Given the description of an element on the screen output the (x, y) to click on. 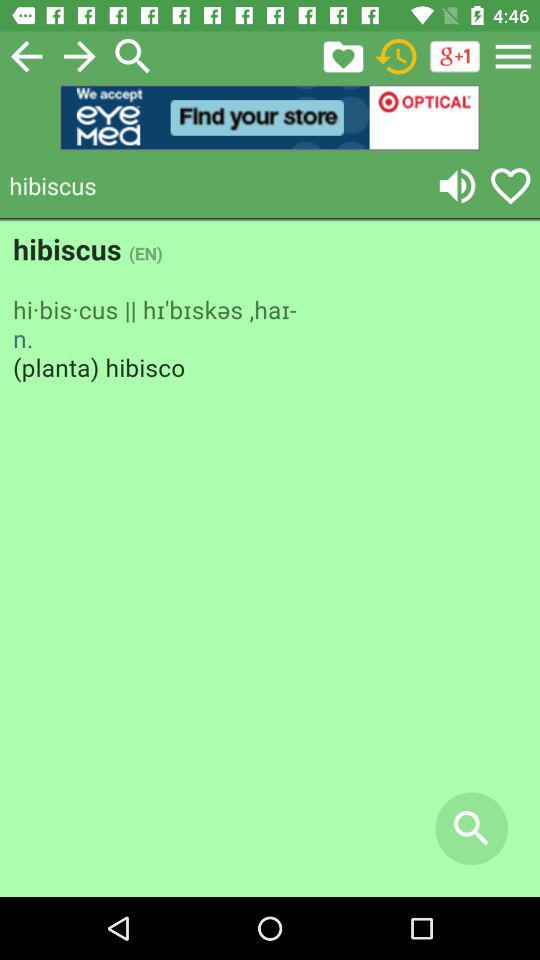
opens saved words (343, 56)
